Given the description of an element on the screen output the (x, y) to click on. 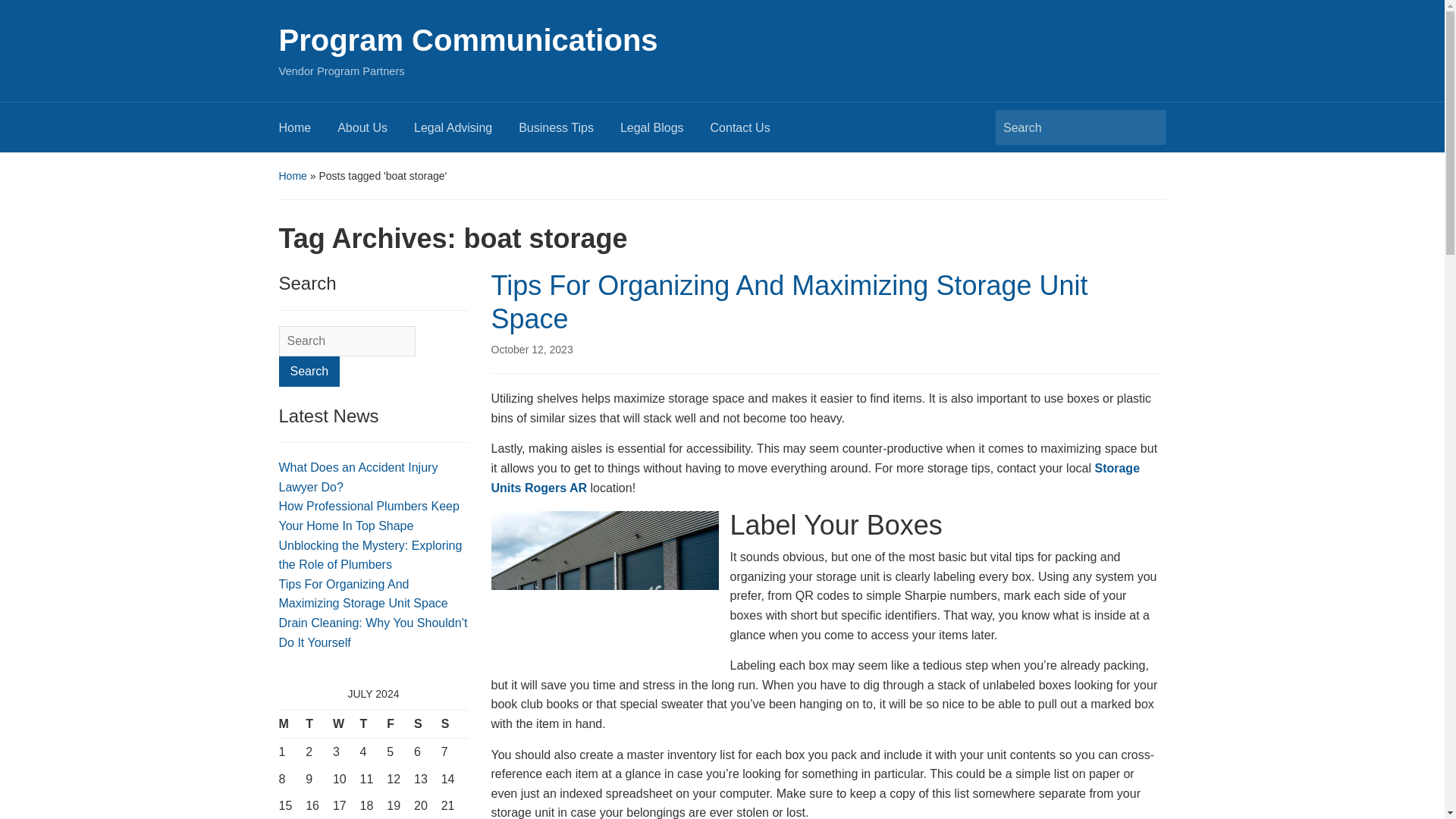
Tips For Organizing And Maximizing Storage Unit Space (789, 301)
Friday (400, 724)
Tuesday (319, 724)
Home (308, 131)
How Professional Plumbers Keep Your Home In Top Shape (369, 515)
Contact Us (753, 131)
Legal Blogs (665, 131)
Business Tips (569, 131)
Storage Units Rogers AR (816, 477)
Legal Advising (465, 131)
Saturday (427, 724)
Home (293, 175)
About Us (375, 131)
Search (309, 371)
